Given the description of an element on the screen output the (x, y) to click on. 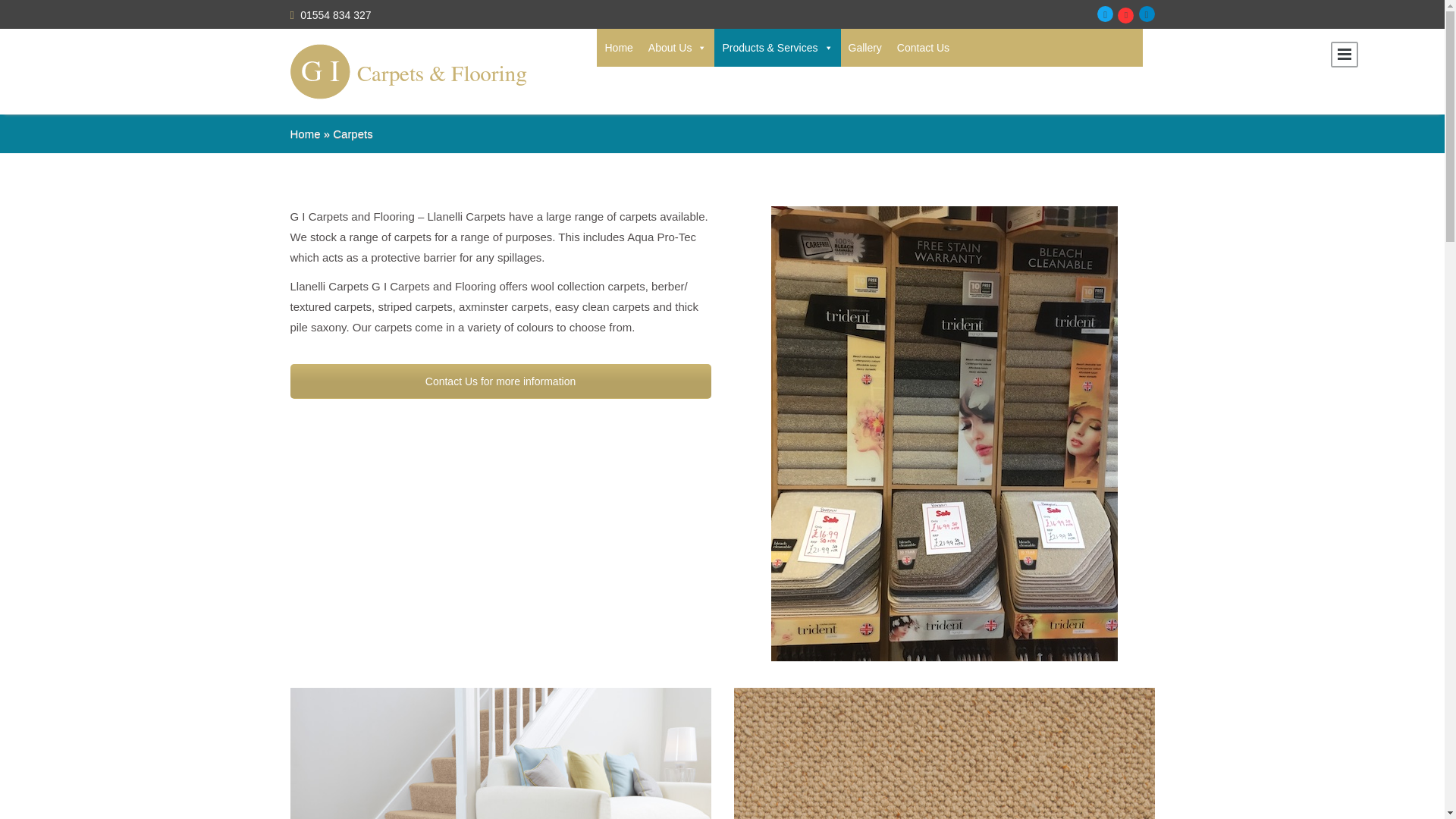
FaceBook (1105, 13)
Contact Us (922, 47)
Home (618, 47)
Google Plus (1126, 15)
Home (304, 133)
LinkedIn (1146, 13)
About Us (677, 47)
Contact Us for more information (499, 380)
Gallery (864, 47)
